Given the description of an element on the screen output the (x, y) to click on. 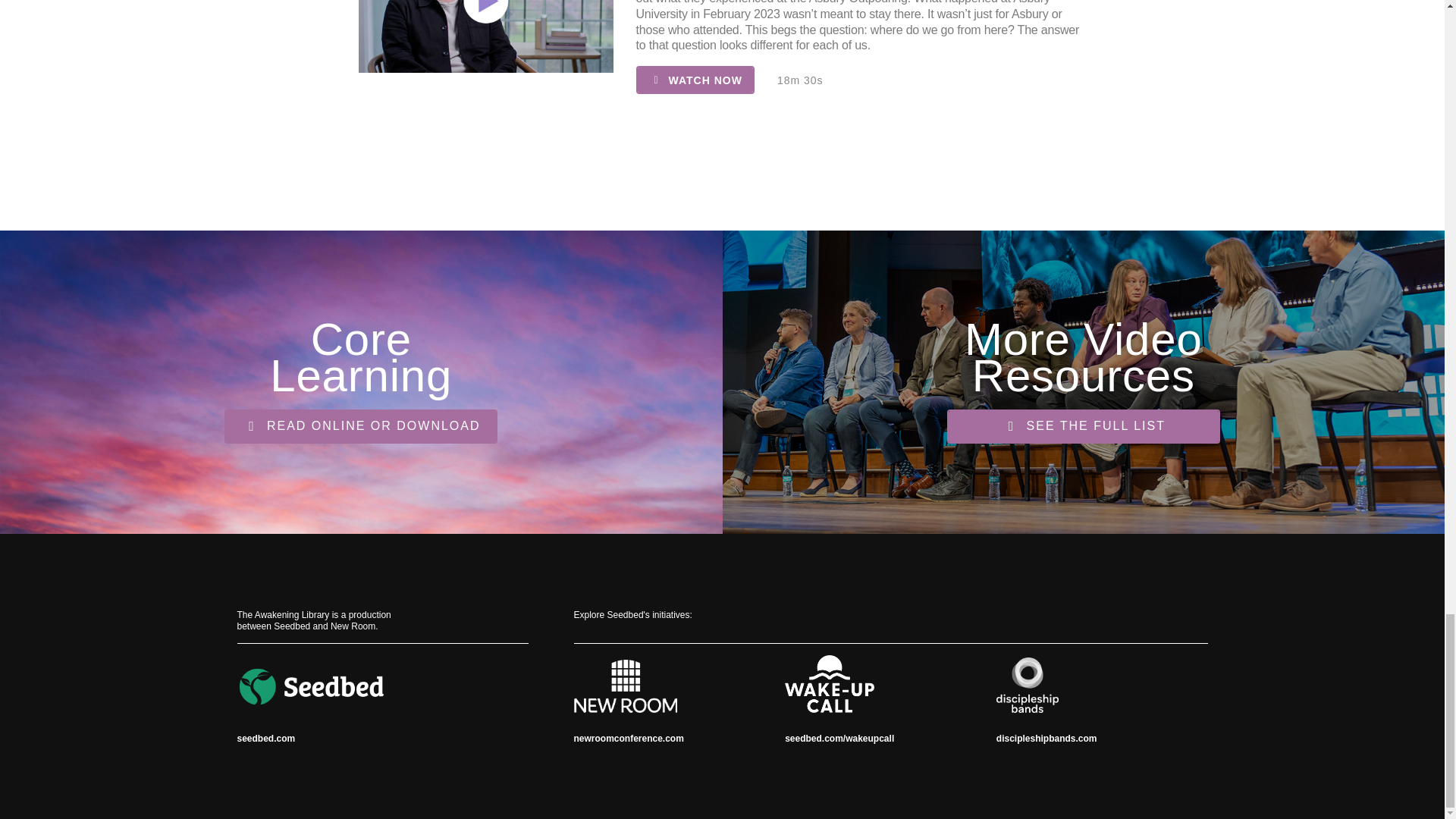
READ ONLINE OR DOWNLOAD (360, 426)
WATCH NOW (694, 80)
SEE THE FULL LIST (1083, 426)
